Given the description of an element on the screen output the (x, y) to click on. 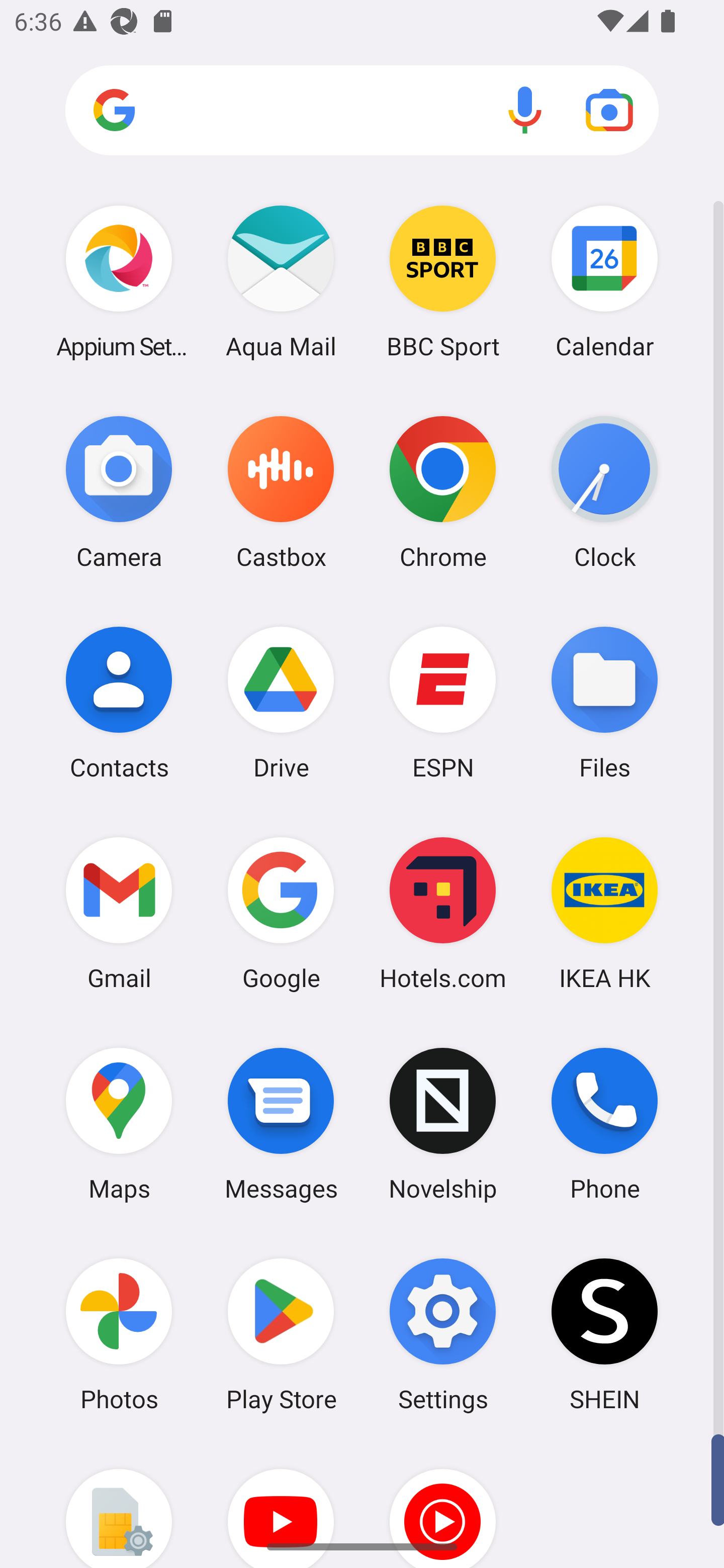
Search apps, web and more (361, 110)
Voice search (524, 109)
Google Lens (608, 109)
Appium Settings (118, 281)
Aqua Mail (280, 281)
BBC Sport (443, 281)
Calendar (604, 281)
Camera (118, 492)
Castbox (280, 492)
Chrome (443, 492)
Clock (604, 492)
Contacts (118, 702)
Drive (280, 702)
ESPN (443, 702)
Files (604, 702)
Gmail (118, 913)
Google (280, 913)
Hotels.com (443, 913)
IKEA HK (604, 913)
Maps (118, 1124)
Messages (280, 1124)
Novelship (443, 1124)
Phone (604, 1124)
Photos (118, 1334)
Play Store (280, 1334)
Settings (443, 1334)
SHEIN (604, 1334)
TMoble (118, 1503)
YouTube (280, 1503)
YT Music (443, 1503)
